Given the description of an element on the screen output the (x, y) to click on. 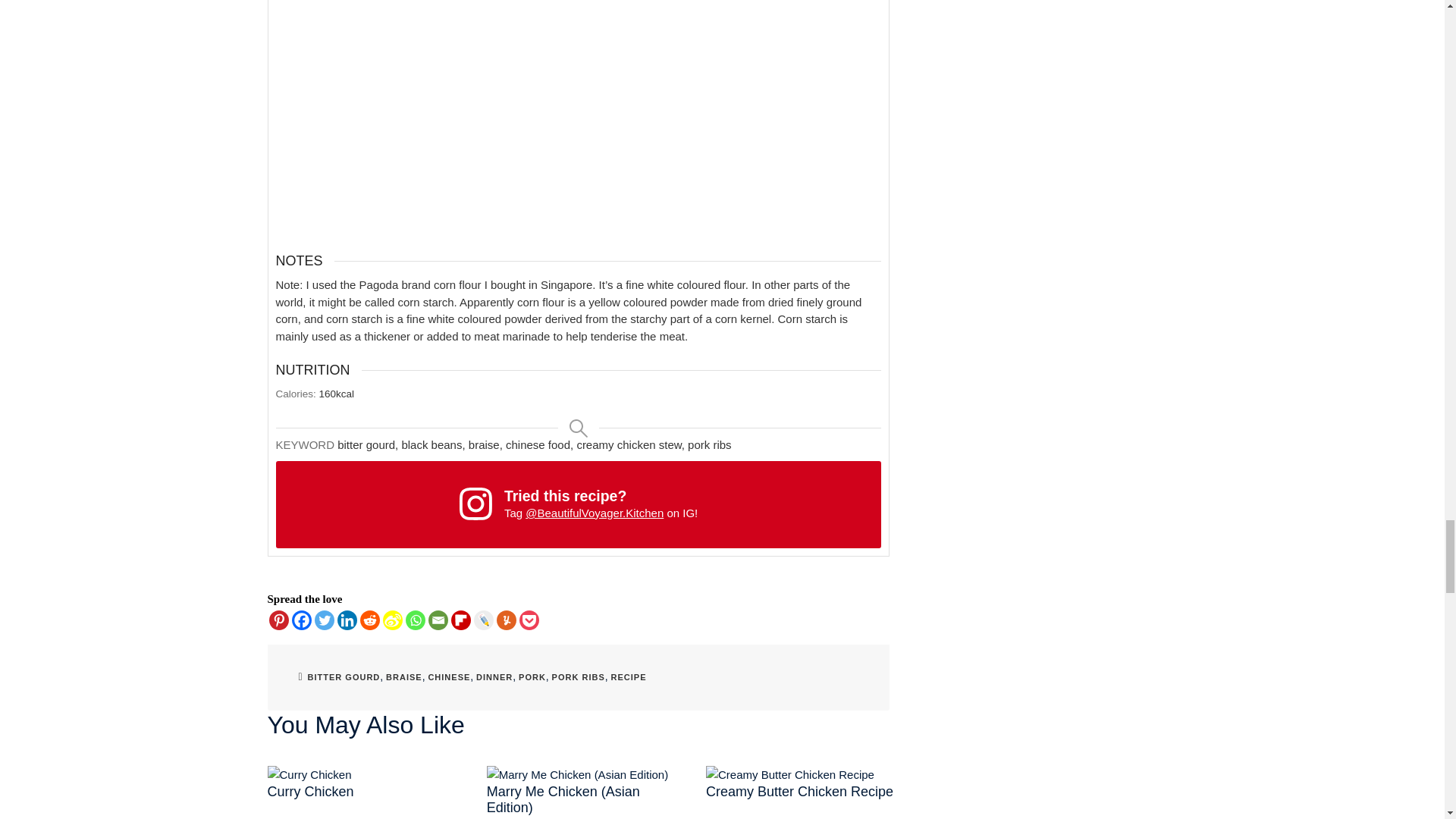
Facebook (301, 619)
Pinterest (277, 619)
